Given the description of an element on the screen output the (x, y) to click on. 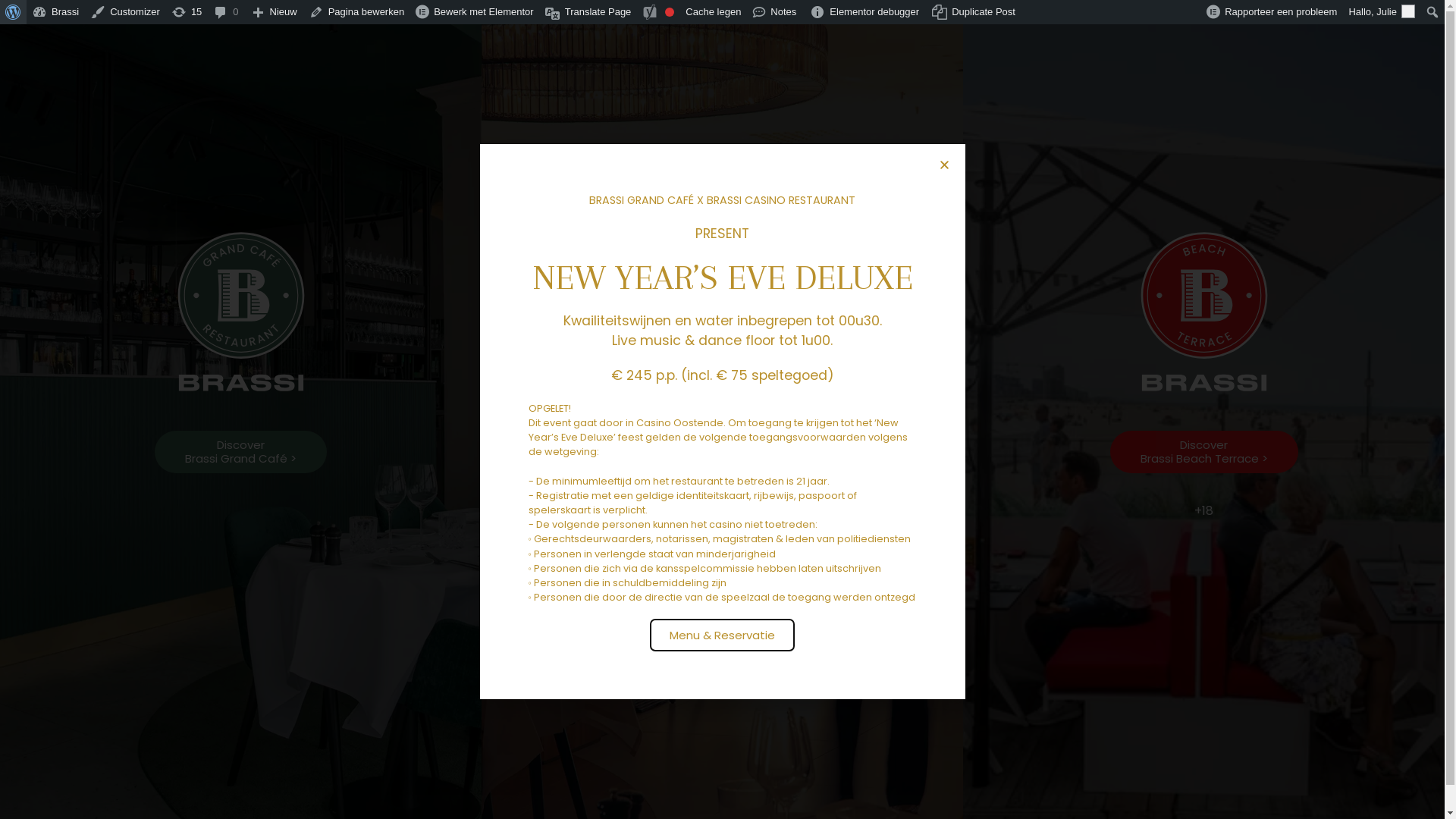
Duplicate Post Element type: text (973, 12)
Customizer Element type: text (125, 12)
Pagina bewerken Element type: text (356, 12)
Menu & Reservatie Element type: text (721, 634)
Discover
Brassi Casino Restaurant > Element type: text (722, 451)
Focus keyphrase niet ingevuld Element type: hover (669, 11)
0 Element type: text (225, 12)
Hallo, Julie Element type: text (1382, 12)
Discover
Brassi Beach Terrace > Element type: text (1204, 451)
Brassi Element type: text (55, 12)
Nieuw Element type: text (273, 12)
Zoeken Element type: text (17, 13)
Rapporteer een probleem Element type: text (1272, 12)
Bewerk met Elementor Element type: text (474, 12)
Translate Page Element type: text (588, 12)
15 Element type: text (186, 12)
Cache legen Element type: text (713, 12)
Notes Element type: text (774, 12)
